Given the description of an element on the screen output the (x, y) to click on. 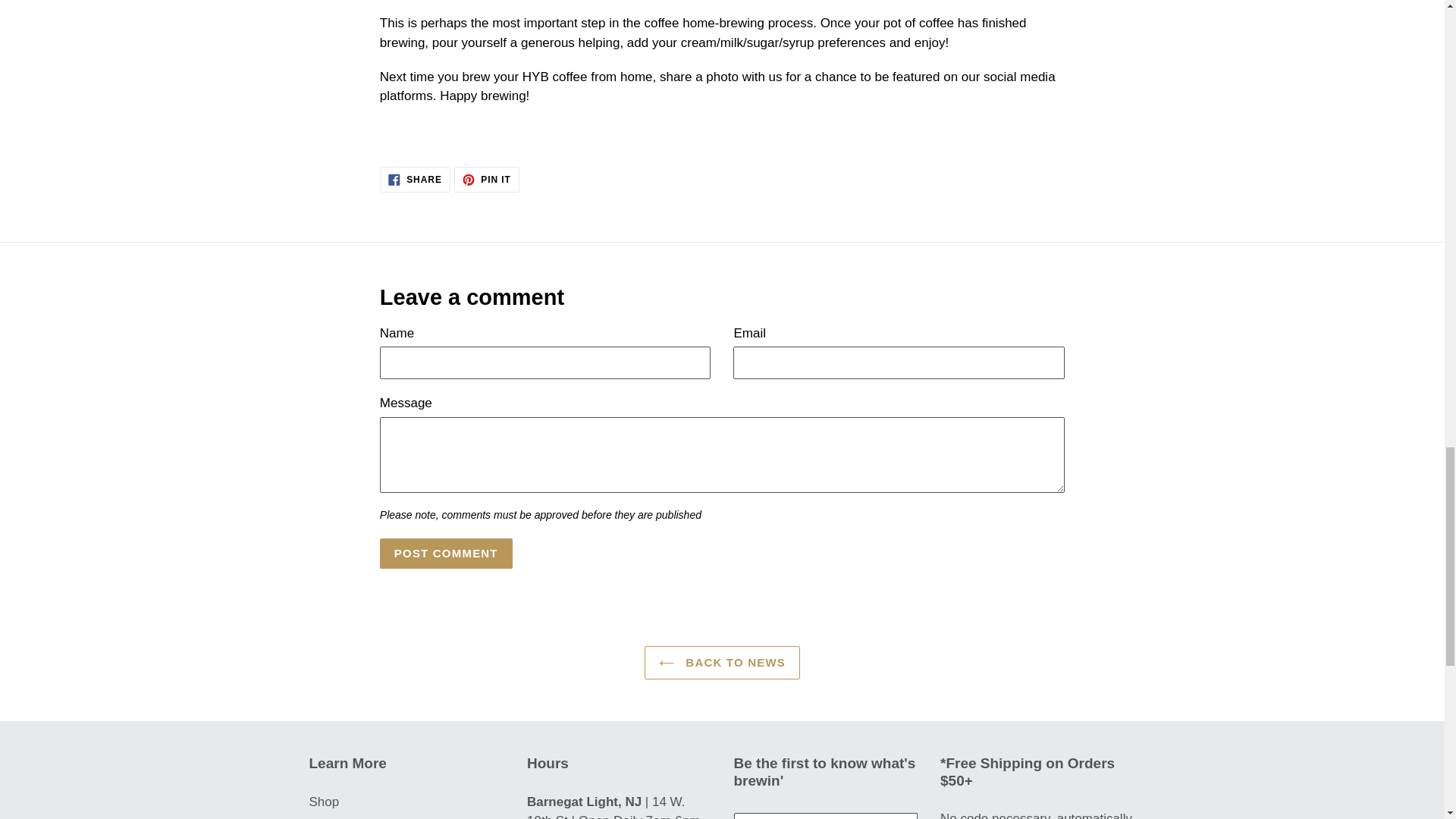
Post comment (446, 553)
